Given the description of an element on the screen output the (x, y) to click on. 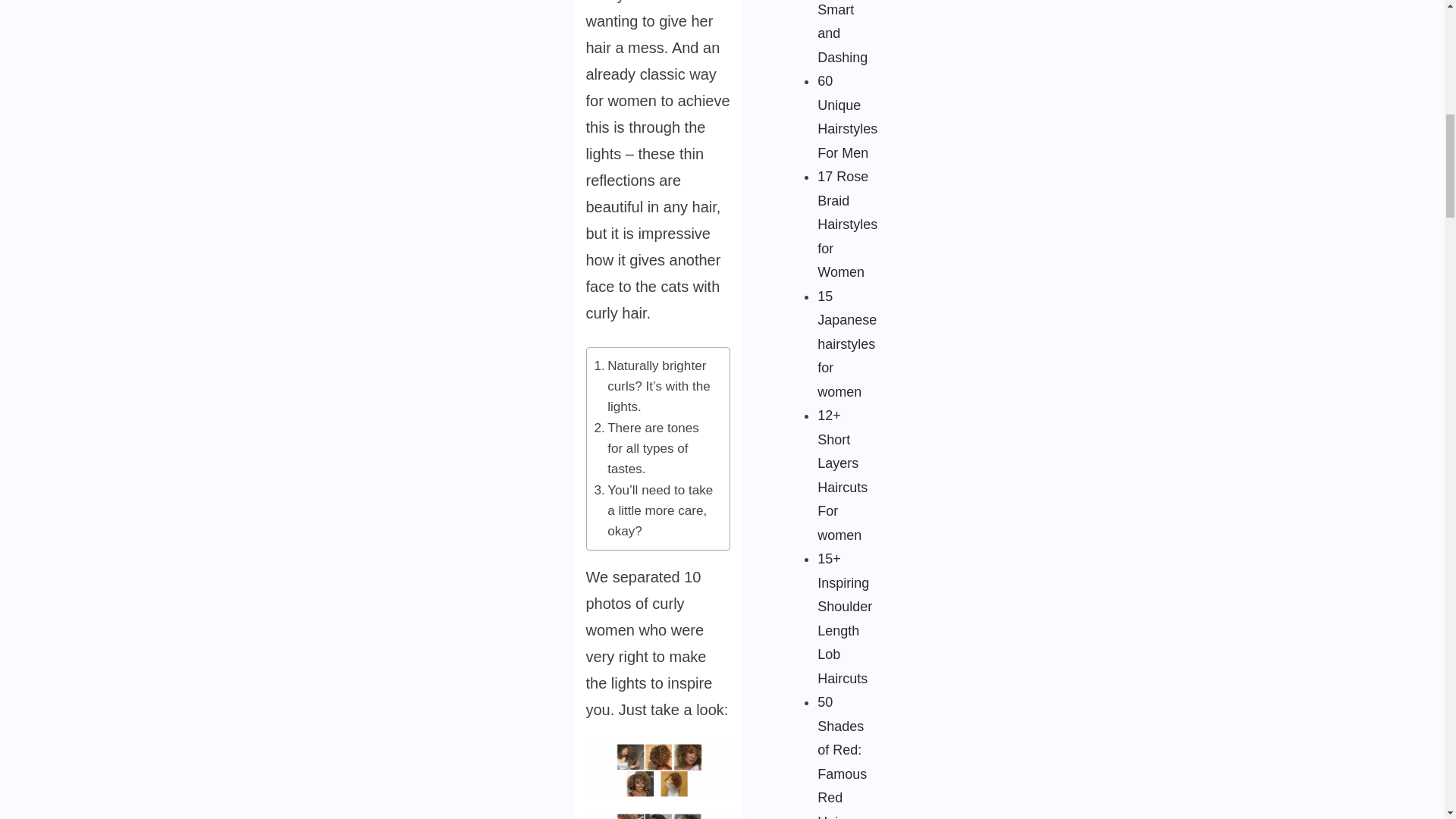
There are tones for all types of tastes. (654, 448)
